Given the description of an element on the screen output the (x, y) to click on. 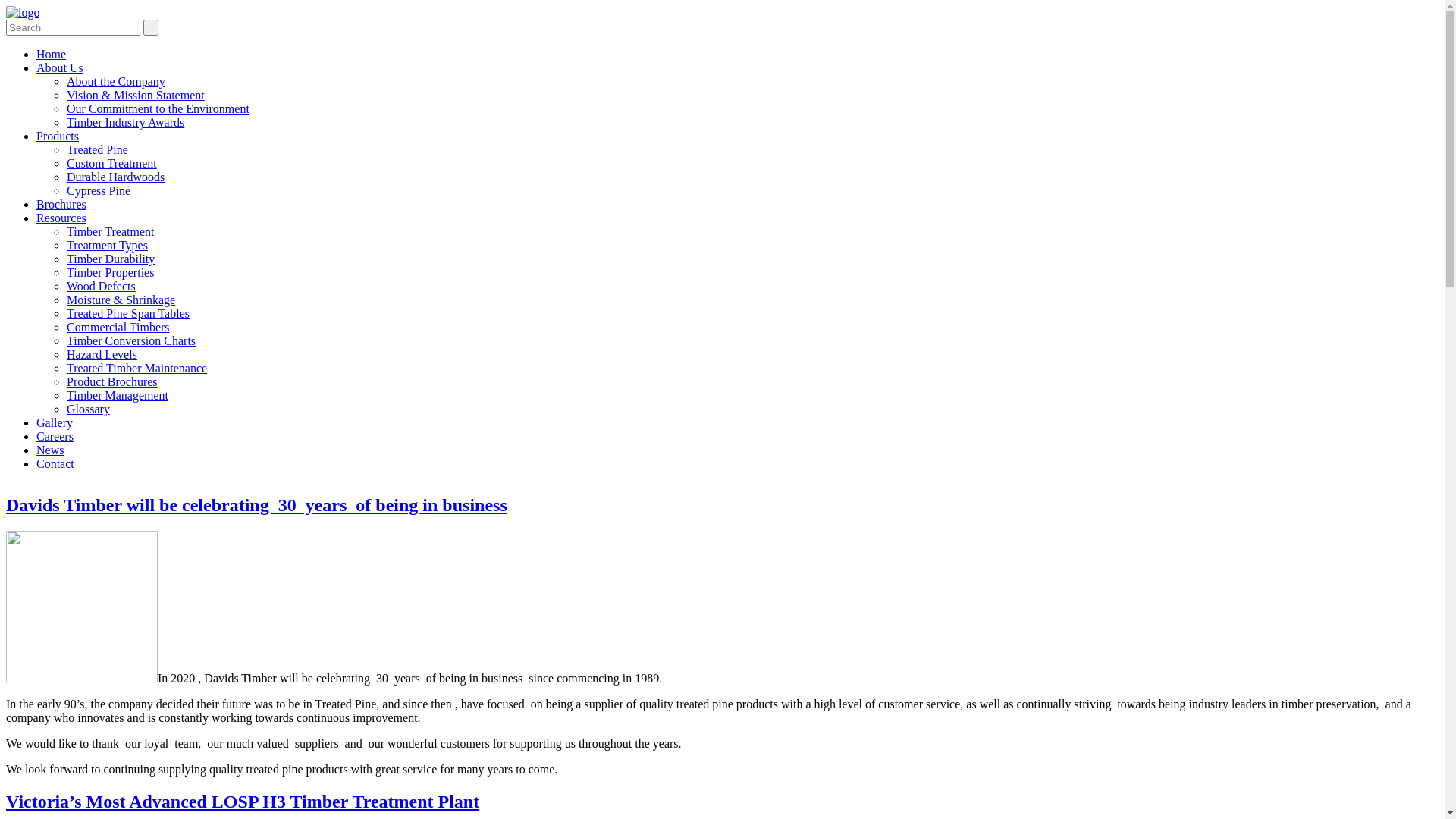
Moisture & Shrinkage Element type: text (120, 299)
Timber Durability Element type: text (110, 258)
Wood Defects Element type: text (100, 285)
News Element type: text (49, 449)
Treated Pine Element type: text (97, 149)
Contact Element type: text (55, 463)
Timber Treatment Element type: text (109, 231)
Hazard Levels Element type: text (101, 354)
Timber Management Element type: text (117, 395)
Gallery Element type: text (54, 422)
About the Company Element type: text (115, 81)
Treated Timber Maintenance Element type: text (136, 367)
Products Element type: text (57, 135)
Cypress Pine Element type: text (98, 190)
Home Element type: text (50, 53)
Timber Industry Awards Element type: text (125, 122)
Commercial Timbers Element type: text (117, 326)
Product Brochures Element type: text (111, 381)
  Element type: text (150, 27)
Treated Pine Span Tables Element type: text (127, 313)
Timber Properties Element type: text (109, 272)
Custom Treatment Element type: text (111, 162)
Davids Timber Element type: hover (22, 12)
Careers Element type: text (54, 435)
Durable Hardwoods Element type: text (115, 176)
Glossary Element type: text (87, 408)
About Us Element type: text (59, 67)
Our Commitment to the Environment Element type: text (157, 108)
Vision & Mission Statement Element type: text (135, 94)
Resources Element type: text (61, 217)
Brochures Element type: text (61, 203)
Timber Conversion Charts Element type: text (130, 340)
Treatment Types Element type: text (106, 244)
